Given the description of an element on the screen output the (x, y) to click on. 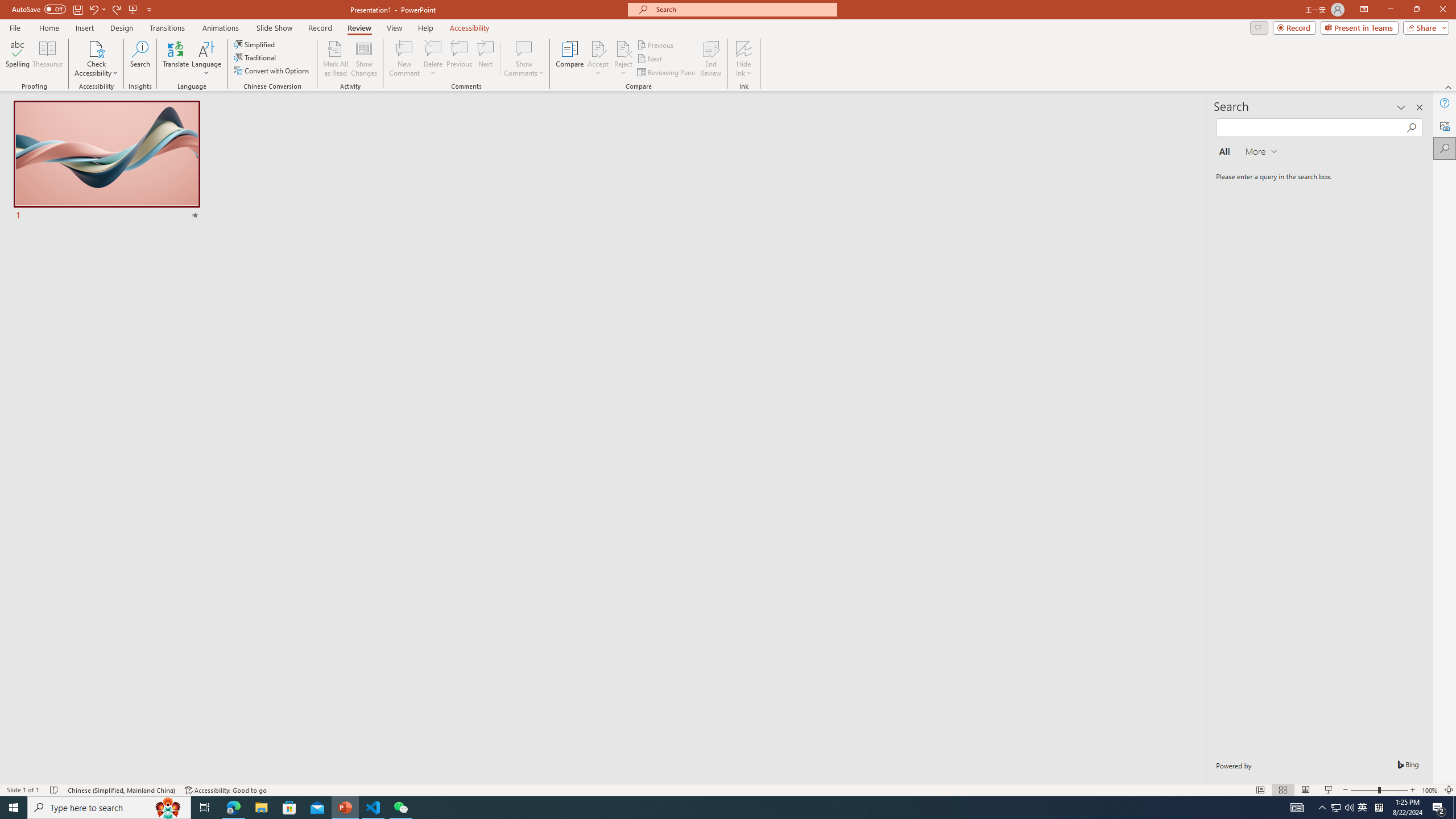
Accessibility Checker Accessibility: Good to go (226, 790)
New Comment (403, 58)
Thesaurus... (47, 58)
Show Changes (363, 58)
